Given the description of an element on the screen output the (x, y) to click on. 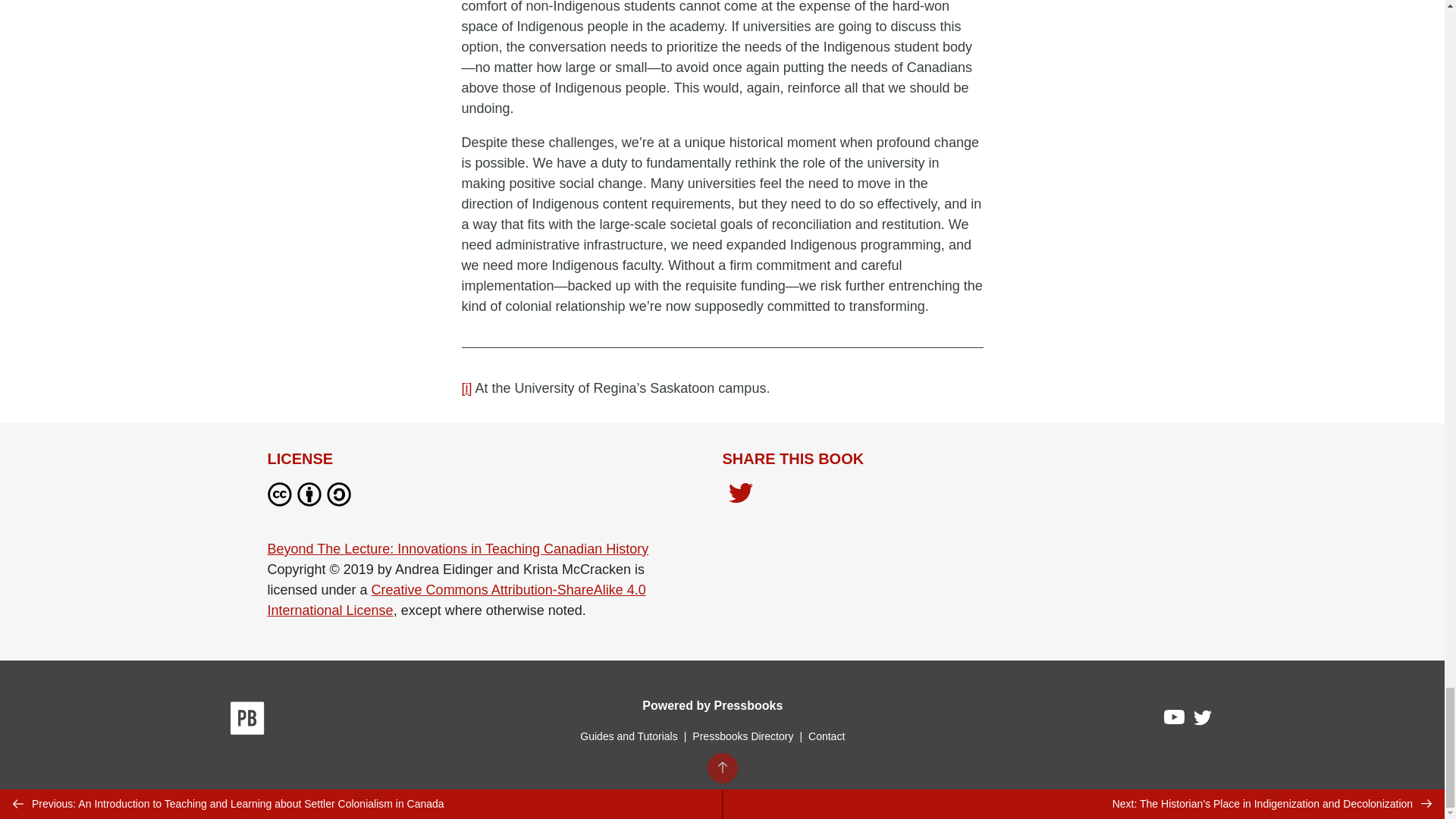
Pressbooks Directory (742, 736)
Pressbooks on YouTube (1174, 721)
Share on Twitter (740, 494)
Guides and Tutorials (627, 736)
Contact (826, 736)
Beyond The Lecture: Innovations in Teaching Canadian History (456, 548)
Share on Twitter (740, 496)
Powered by Pressbooks (712, 705)
